Given the description of an element on the screen output the (x, y) to click on. 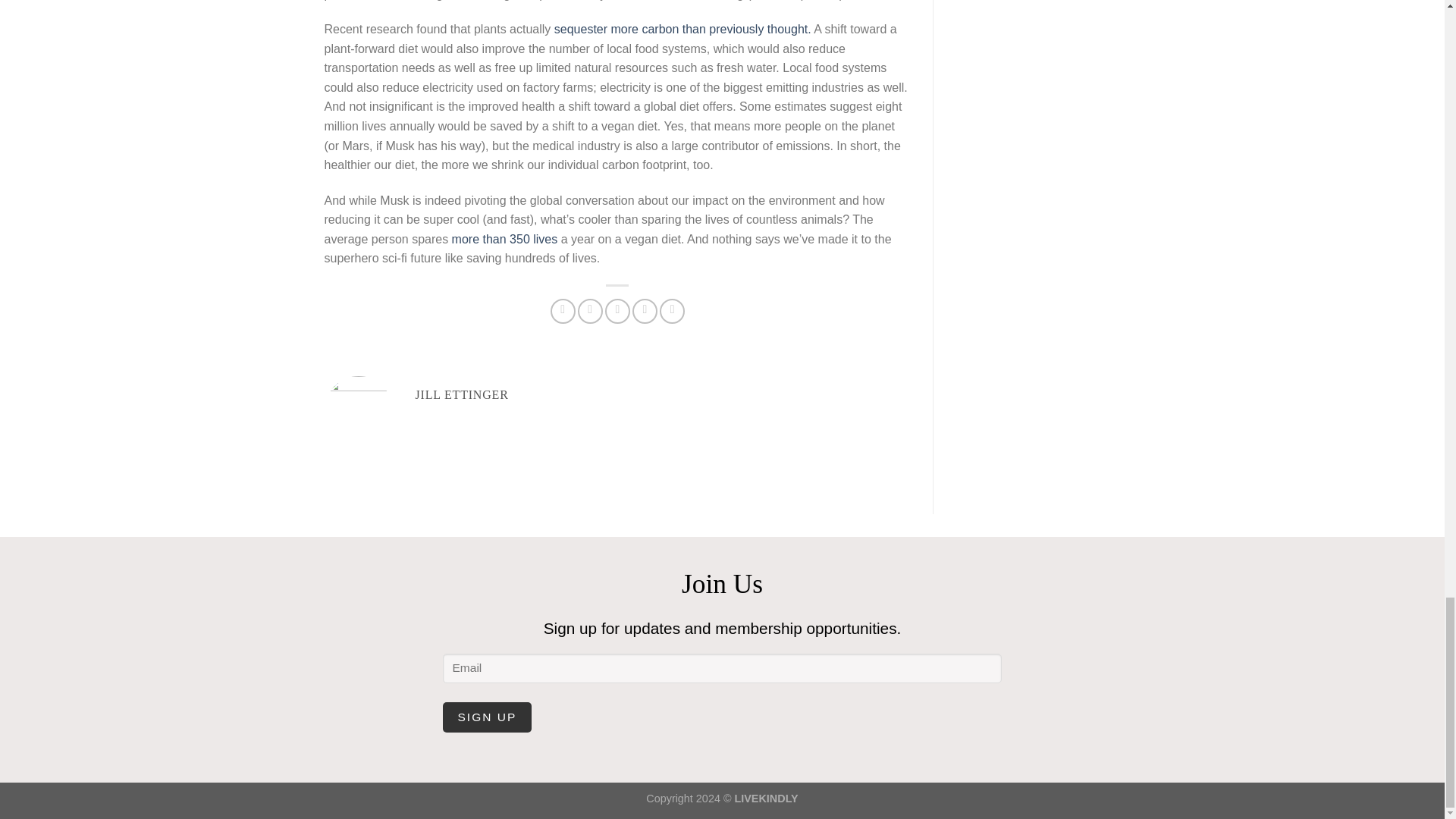
Email to a Friend (617, 310)
Pin on Pinterest (644, 310)
Share on Facebook (562, 310)
sequester more carbon than previously thought. (682, 29)
Share on Twitter (590, 310)
more than 350 lives (504, 238)
SIGN UP (486, 716)
Share on Tumblr (671, 310)
